Given the description of an element on the screen output the (x, y) to click on. 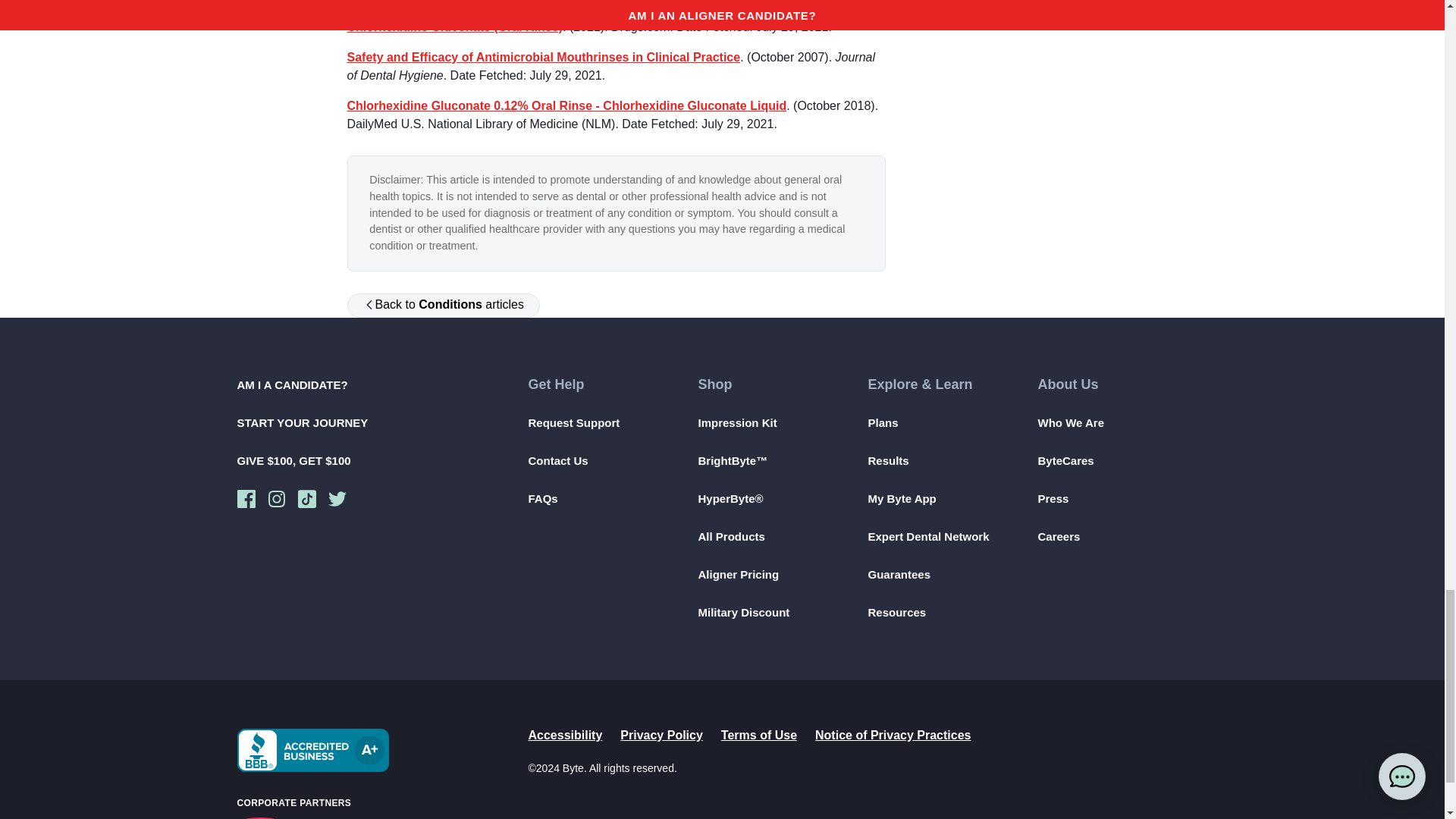
ChevronLeft Icon (368, 304)
navigation-footer-copyright-area (867, 744)
Back to Conditions articles (448, 304)
